Given the description of an element on the screen output the (x, y) to click on. 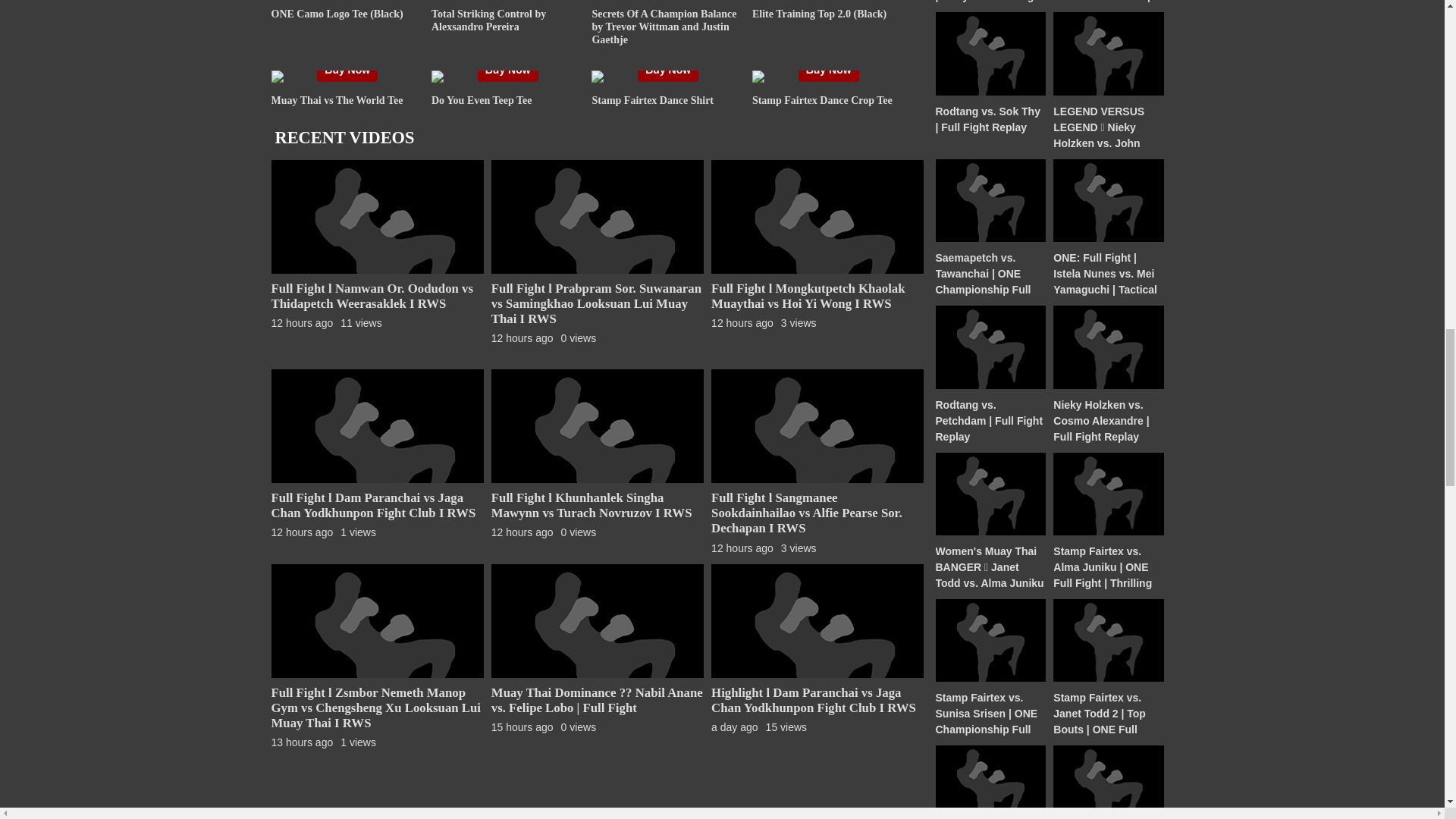
Buy Now (828, 69)
Muay Thai vs The World Tee (336, 100)
Buy Do You Even Teep Tee (507, 69)
Do You Even Teep Tee (481, 100)
Buy Muay Thai vs The World Tee (347, 69)
Buy Stamp Fairtex Dance Shirt (667, 69)
